Given the description of an element on the screen output the (x, y) to click on. 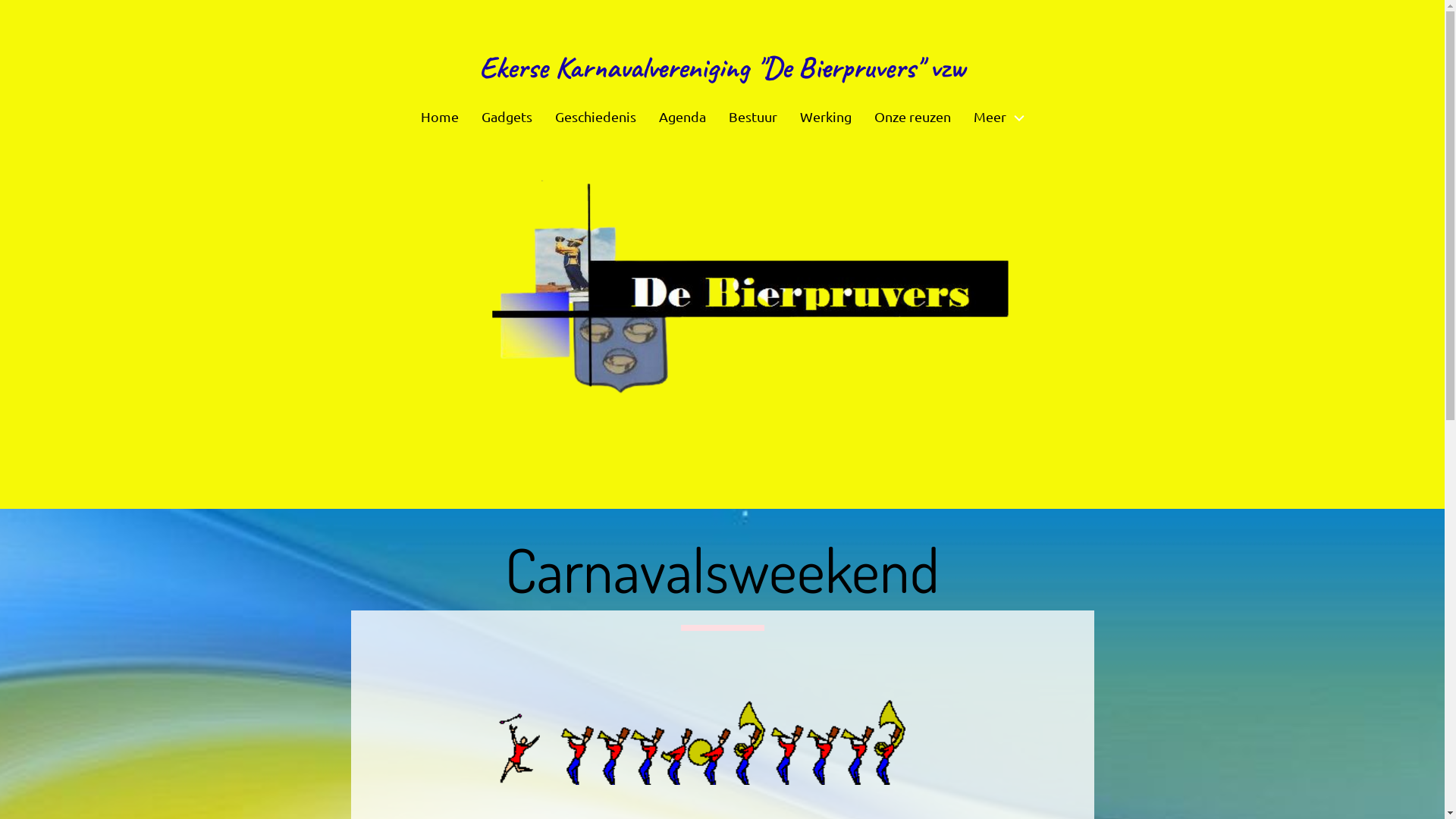
Home Element type: text (439, 117)
Geschiedenis Element type: text (594, 117)
Bestuur Element type: text (752, 117)
Gadgets Element type: text (506, 117)
Werking Element type: text (825, 117)
Onze reuzen Element type: text (912, 117)
Agenda Element type: text (682, 117)
Meer Element type: text (998, 117)
